Given the description of an element on the screen output the (x, y) to click on. 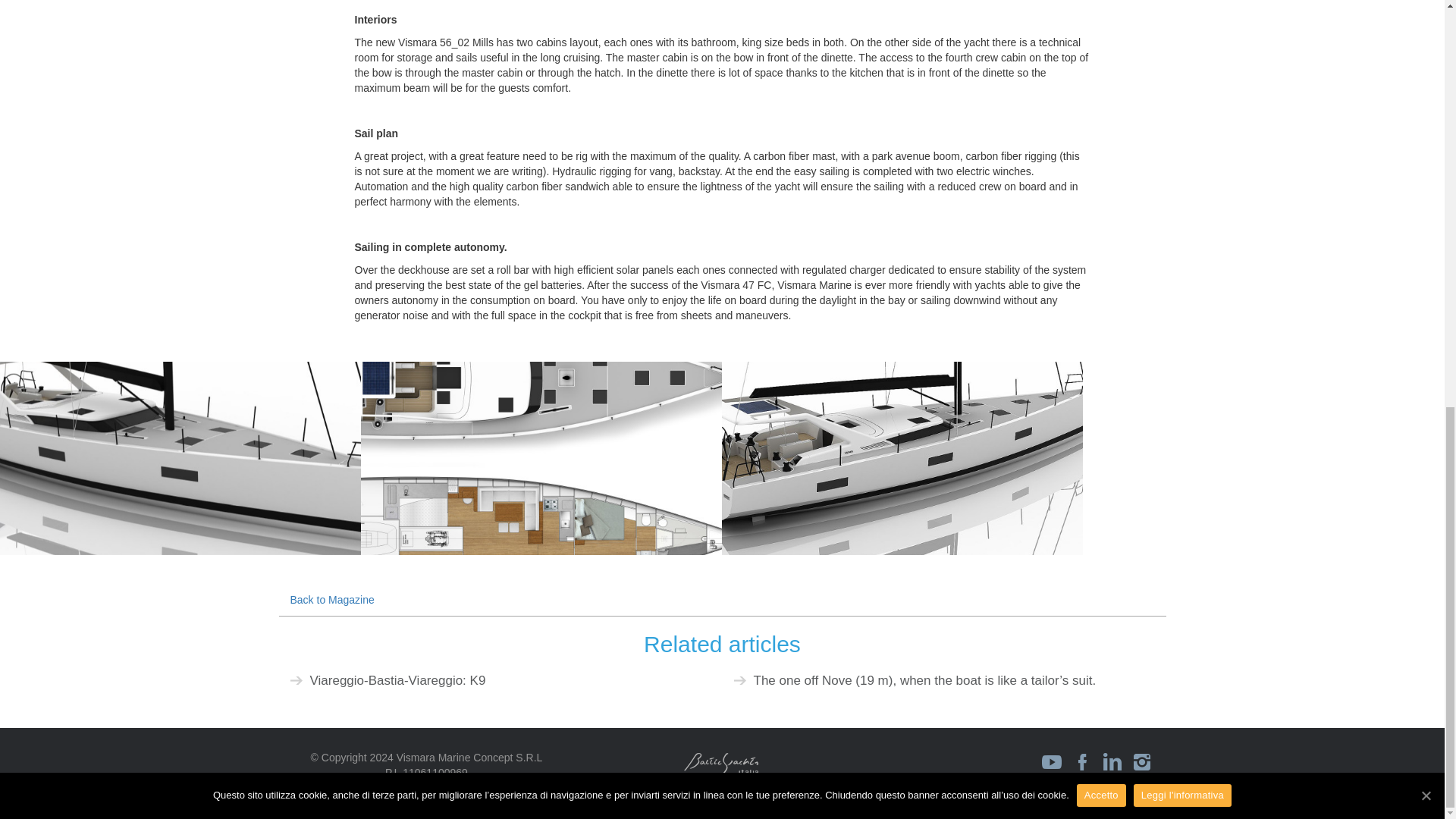
Privacy (402, 787)
Contact (448, 787)
Back to Magazine (331, 599)
Viareggio-Bastia-Viareggio: K9 (396, 680)
